Given the description of an element on the screen output the (x, y) to click on. 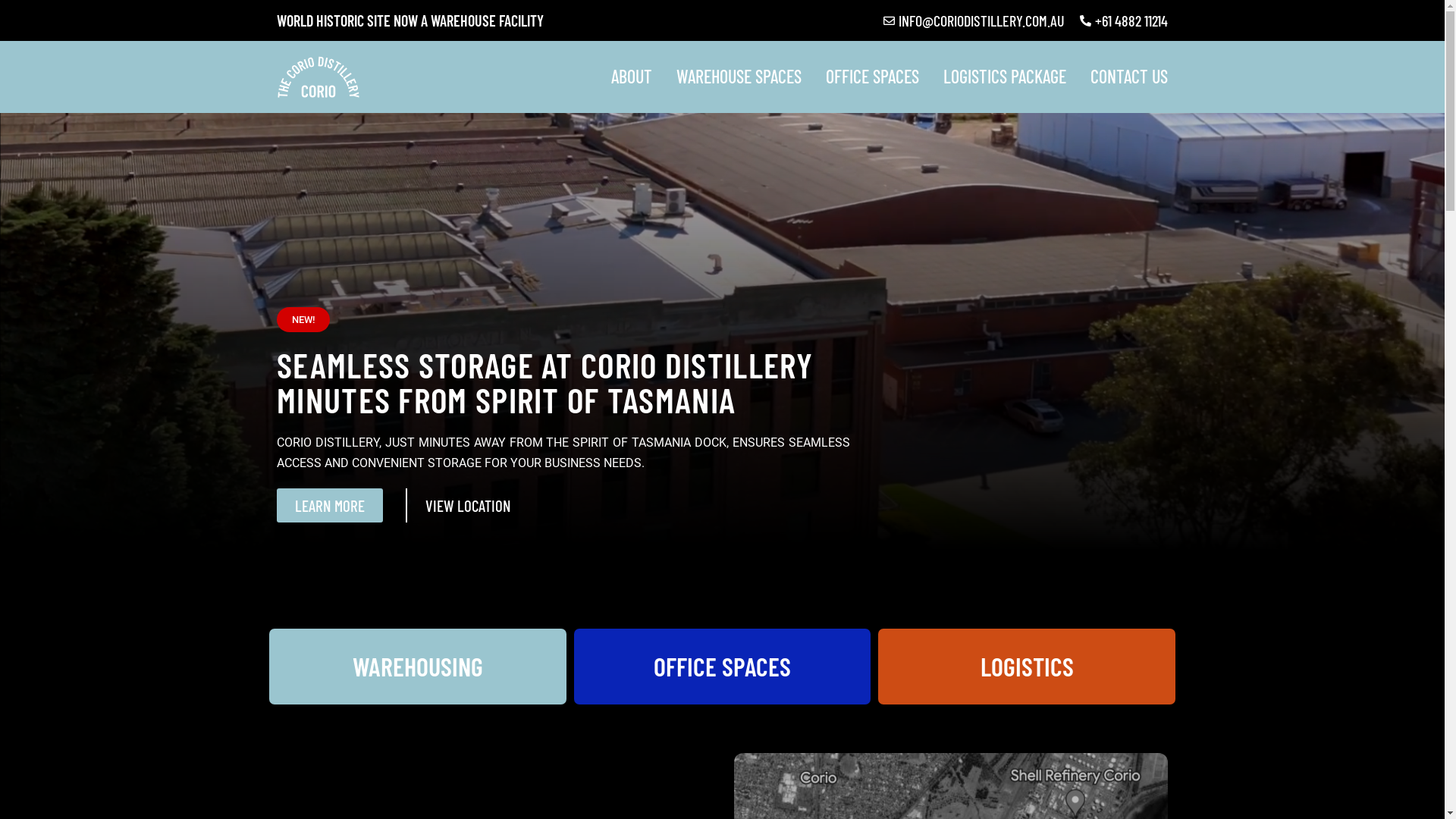
+61 4882 11214 Element type: text (1121, 20)
VIEW LOCATION Element type: text (467, 505)
INFO@CORIODISTILLERY.COM.AU Element type: text (973, 20)
LOGISTICS Element type: text (1026, 666)
CONTACT US Element type: text (1128, 76)
WAREHOUSE SPACES Element type: text (738, 76)
OFFICE SPACES Element type: text (722, 666)
LEARN MORE Element type: text (329, 505)
OFFICE SPACES Element type: text (872, 76)
NEW! Element type: text (302, 319)
ABOUT Element type: text (631, 76)
WAREHOUSING Element type: text (417, 666)
LOGISTICS PACKAGE Element type: text (1004, 76)
